Given the description of an element on the screen output the (x, y) to click on. 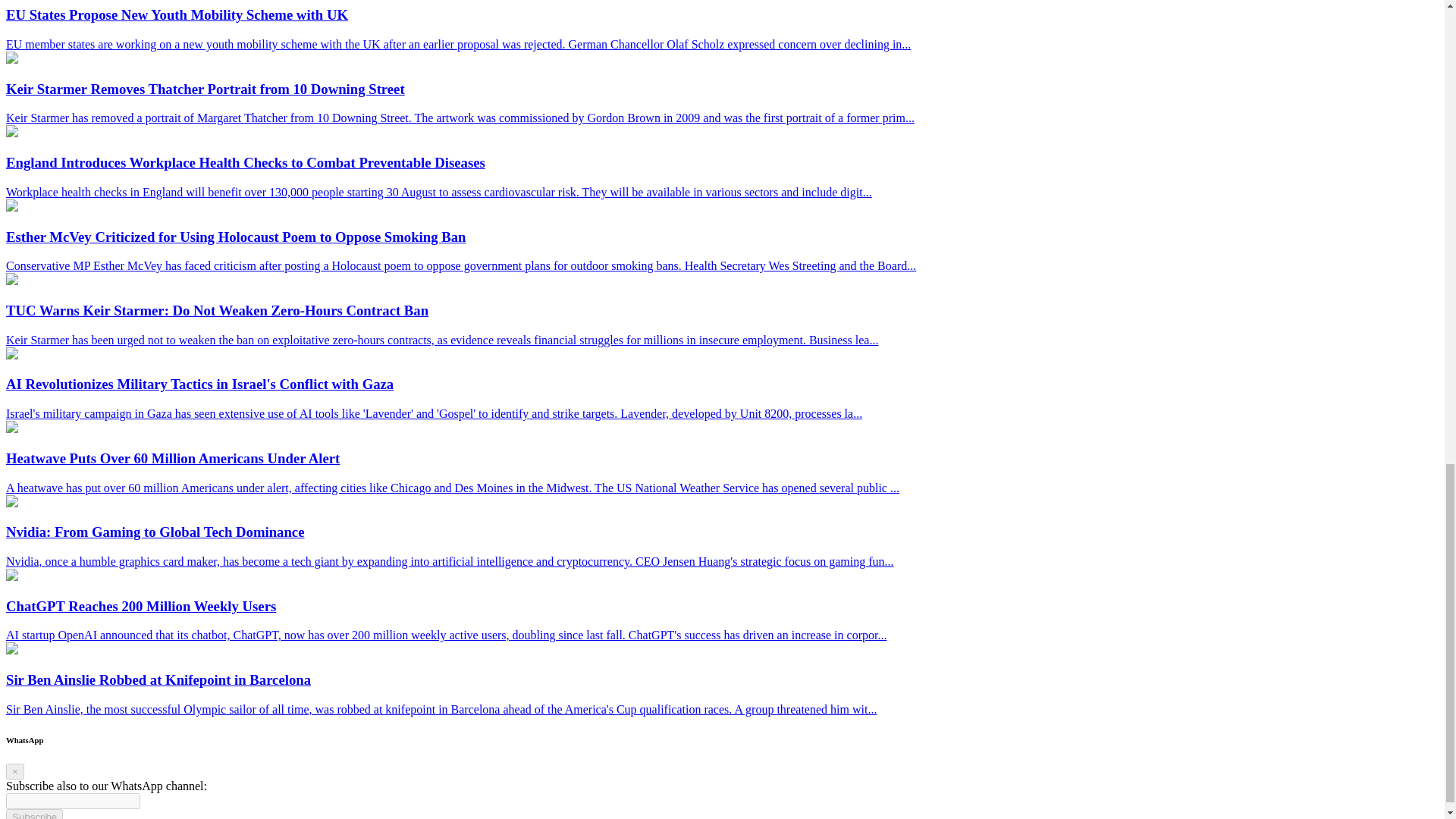
Heatwave Puts Over 60 Million Americans Under Alert (11, 428)
Nvidia: From Gaming to Global Tech Dominance (11, 502)
